Given the description of an element on the screen output the (x, y) to click on. 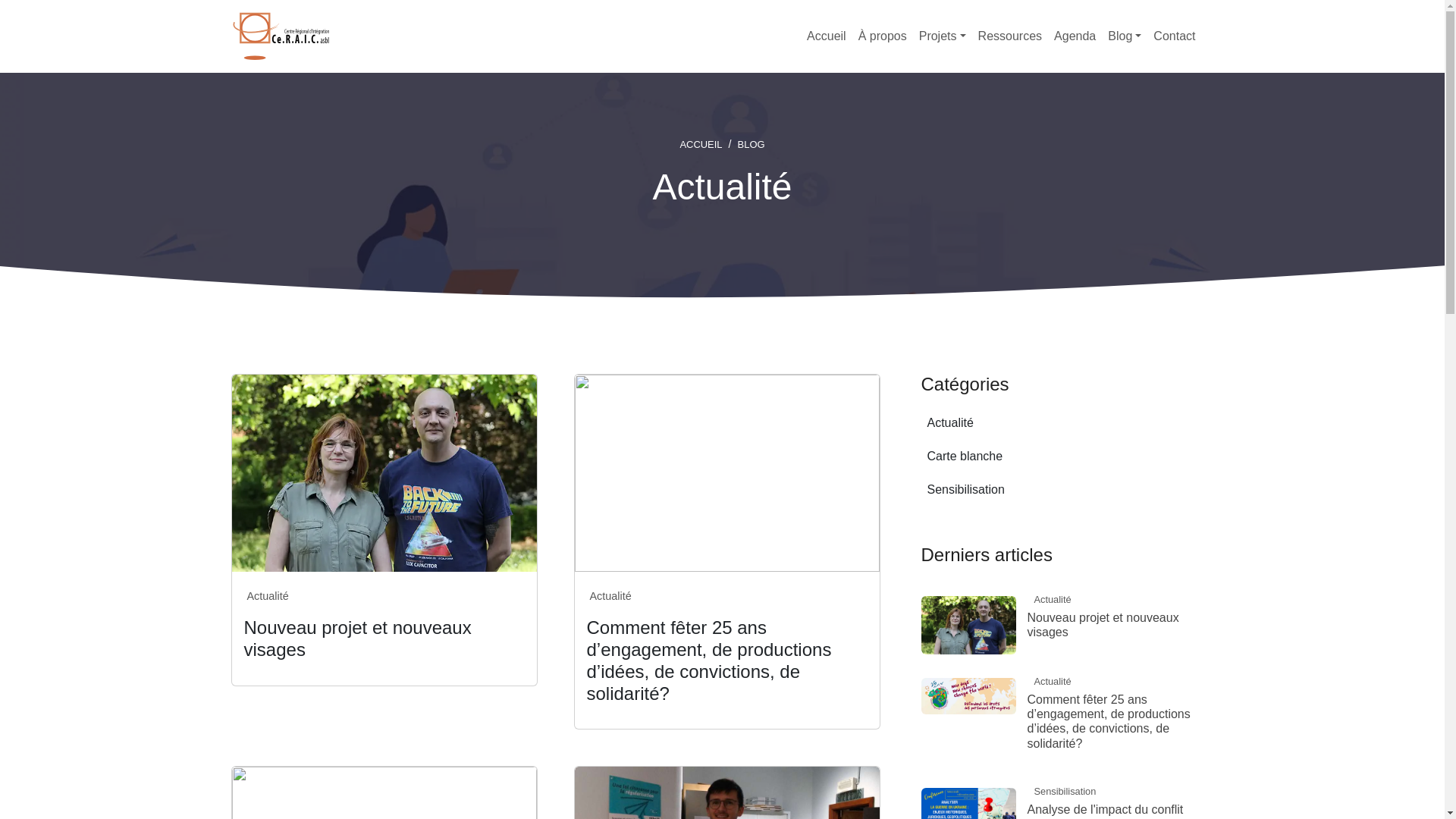
ACCUEIL Element type: text (700, 144)
Nouveau projet et nouveaux visages Element type: text (357, 638)
Accueil Element type: text (826, 36)
Agenda Element type: text (1074, 36)
Projets Element type: text (942, 36)
Miniature Element type: hover (384, 471)
Miniature Element type: hover (726, 471)
Contact Element type: text (1174, 36)
Nouveau projet et nouveaux visages Element type: text (1115, 624)
Carte blanche Element type: text (964, 455)
Sensibilisation Element type: text (965, 489)
BLOG Element type: text (751, 144)
Blog Element type: text (1124, 36)
Ressources Element type: text (1010, 36)
